Given the description of an element on the screen output the (x, y) to click on. 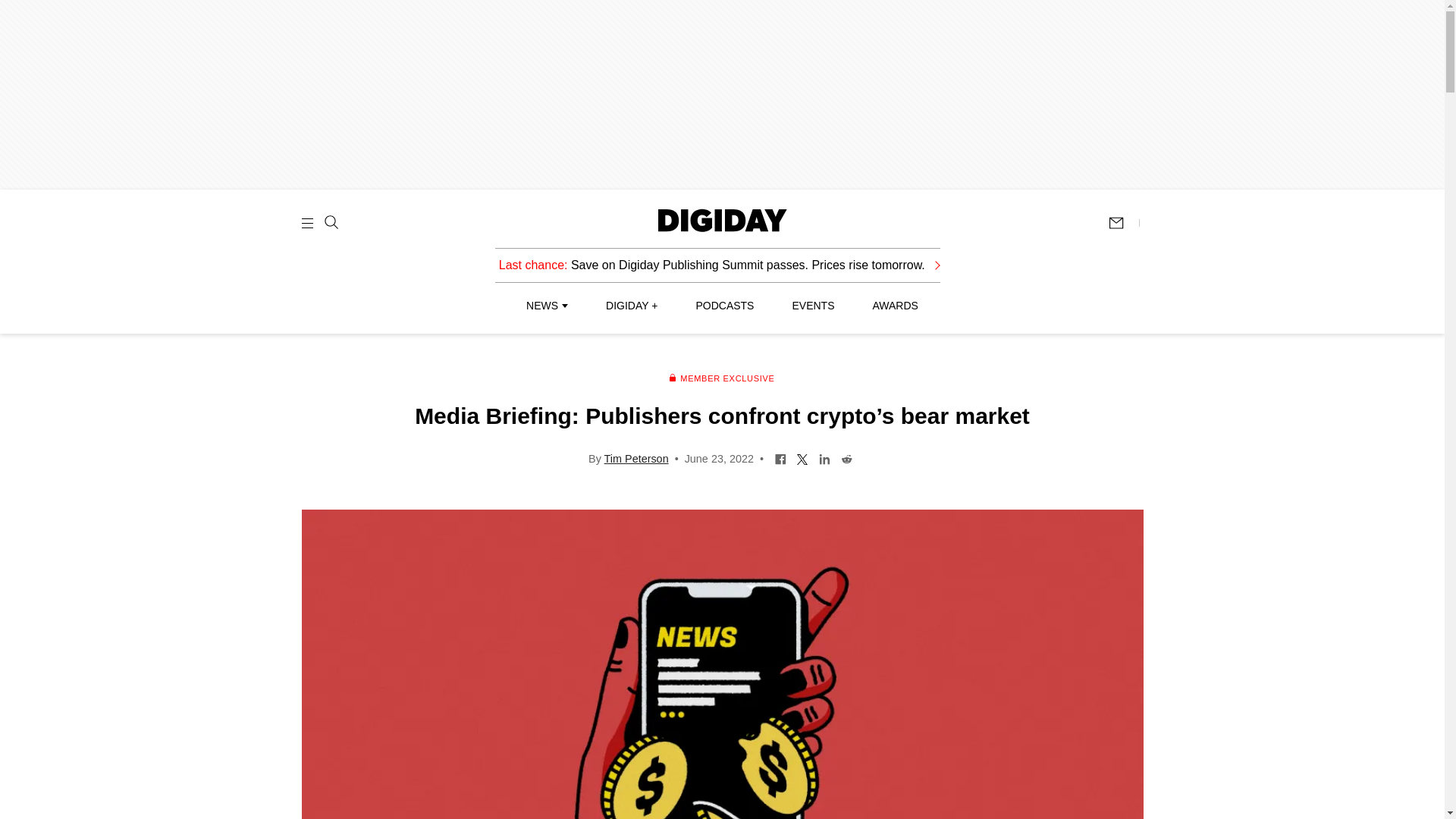
EVENTS (813, 305)
AWARDS (894, 305)
Share on Reddit (846, 458)
PODCASTS (725, 305)
NEWS (546, 305)
Share on LinkedIn (824, 458)
Share on Facebook (780, 458)
Share on Twitter (802, 458)
Subscribe (1123, 223)
